Given the description of an element on the screen output the (x, y) to click on. 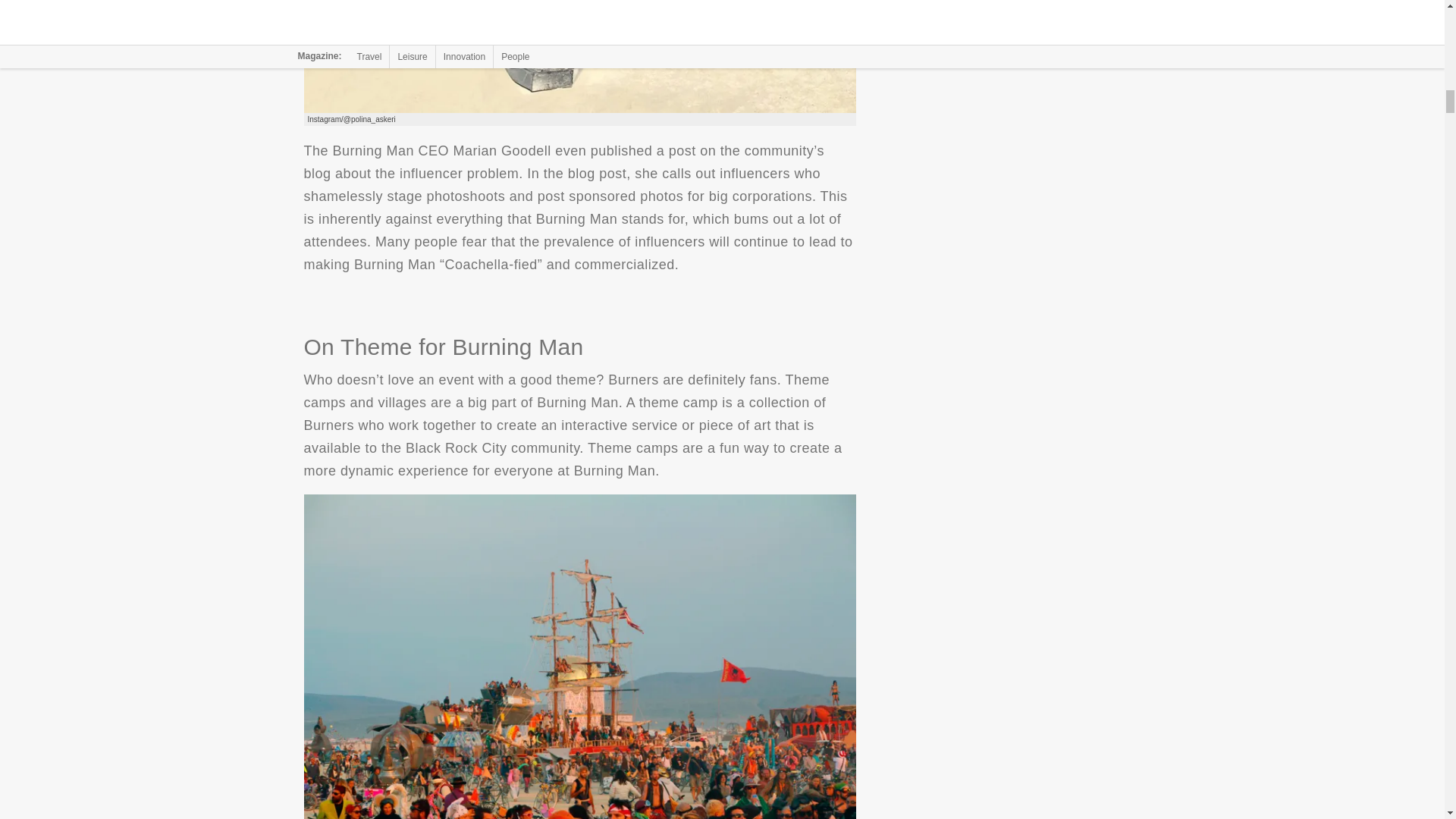
Influencers Vs. Burning Man (579, 56)
